Given the description of an element on the screen output the (x, y) to click on. 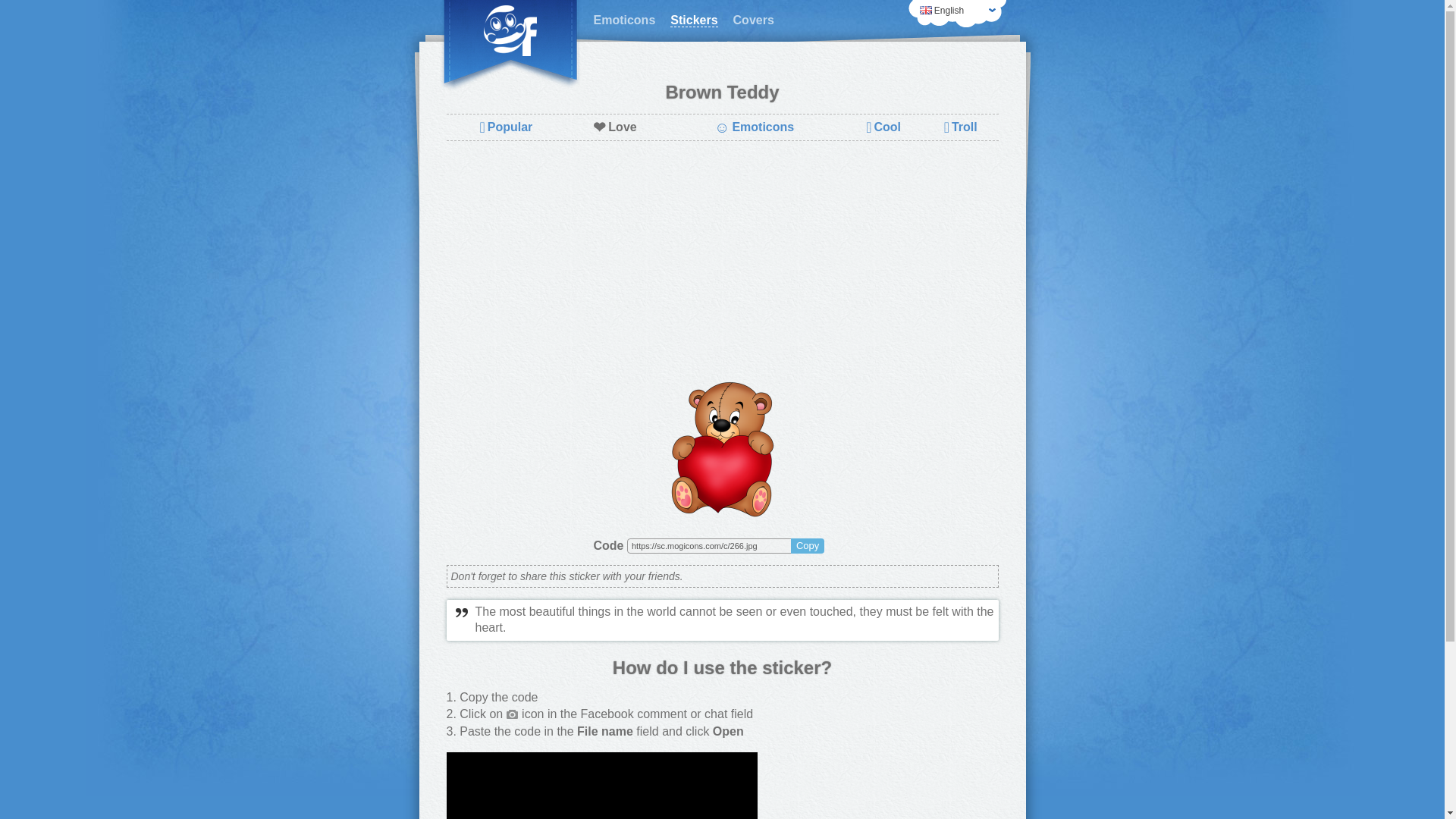
Copy (807, 545)
Covers Photos for Facebook (753, 19)
Advertisement (883, 785)
Emoticons for Facebook (623, 19)
Emoticons (623, 19)
Advertisement (721, 262)
Facebook Emoticons (509, 45)
Attach Photo (512, 714)
Covers (753, 19)
Stickers (693, 20)
